Given the description of an element on the screen output the (x, y) to click on. 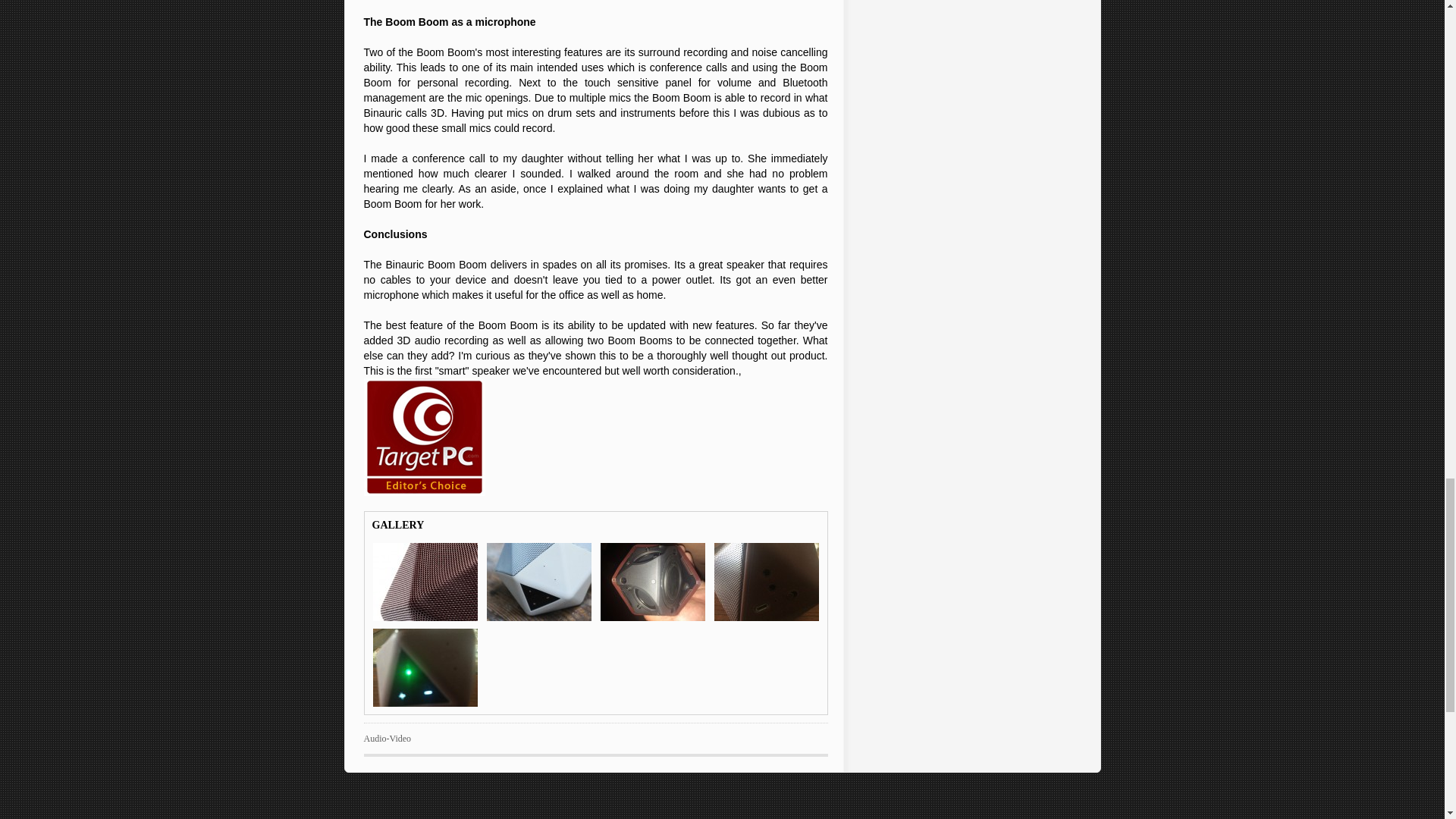
Audio-Video (388, 738)
Audio-Video (388, 738)
